Given the description of an element on the screen output the (x, y) to click on. 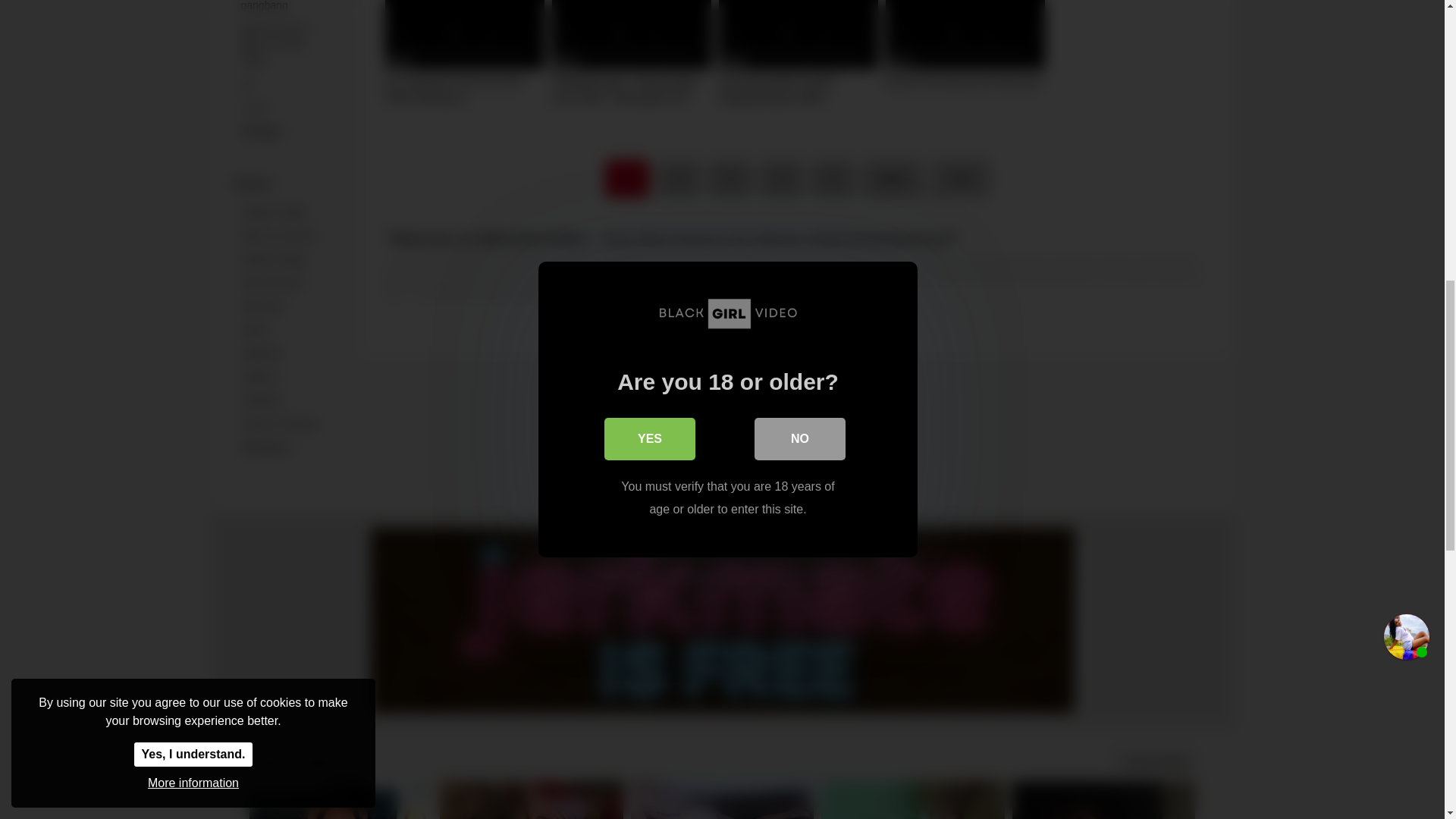
1 on 1 (285, 107)
All tags (285, 131)
All actors (285, 447)
02 (285, 84)
All tags (285, 131)
